Given the description of an element on the screen output the (x, y) to click on. 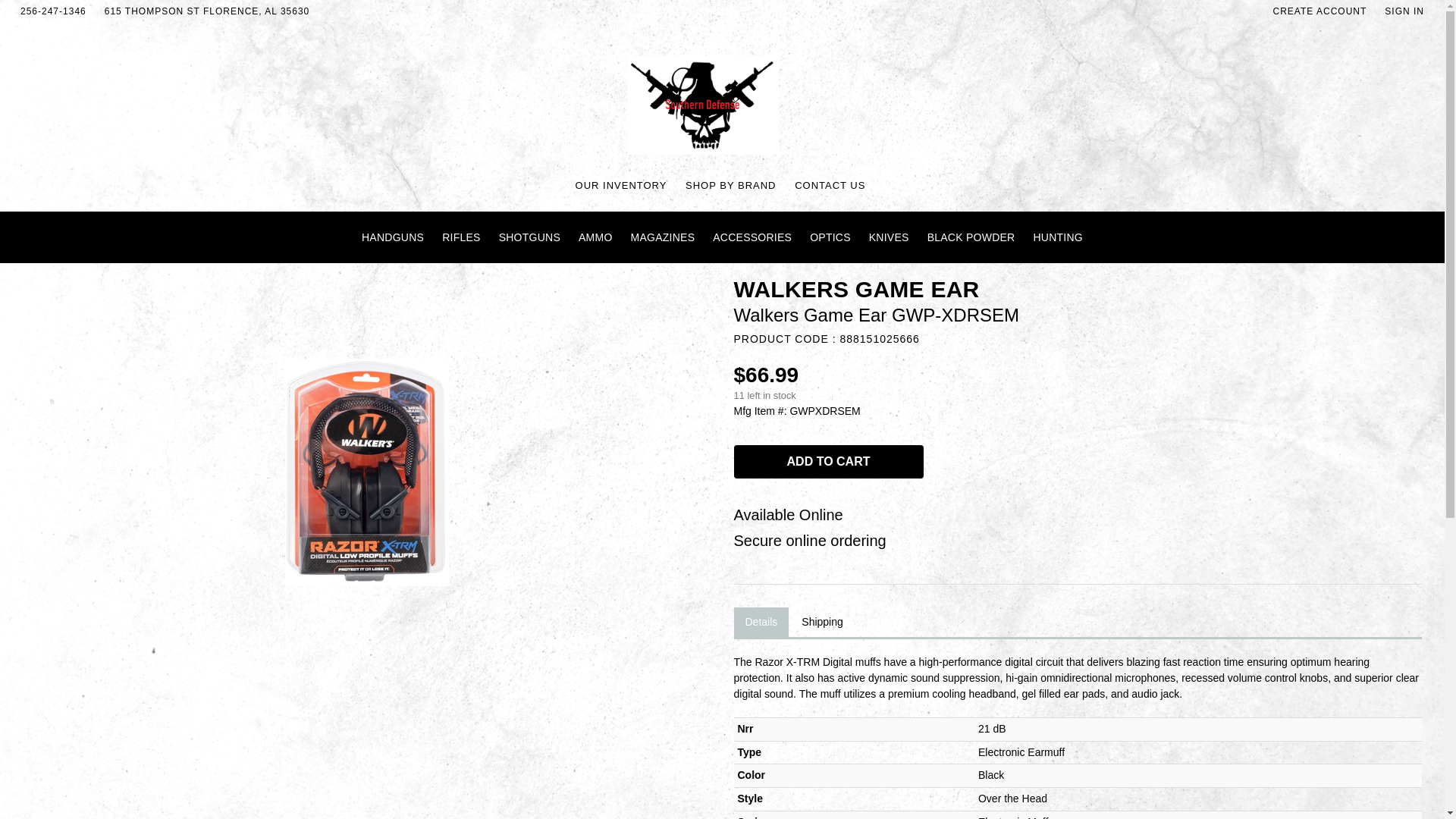
256-247-1346 (53, 11)
CREATE ACCOUNT (1319, 11)
SHOP BY BRAND (730, 184)
OUR INVENTORY (620, 184)
HANDGUNS (392, 236)
SIGN IN (1403, 11)
615 THOMPSON ST FLORENCE, AL 35630 (207, 11)
RIFLES (460, 236)
CONTACT US (829, 184)
